Given the description of an element on the screen output the (x, y) to click on. 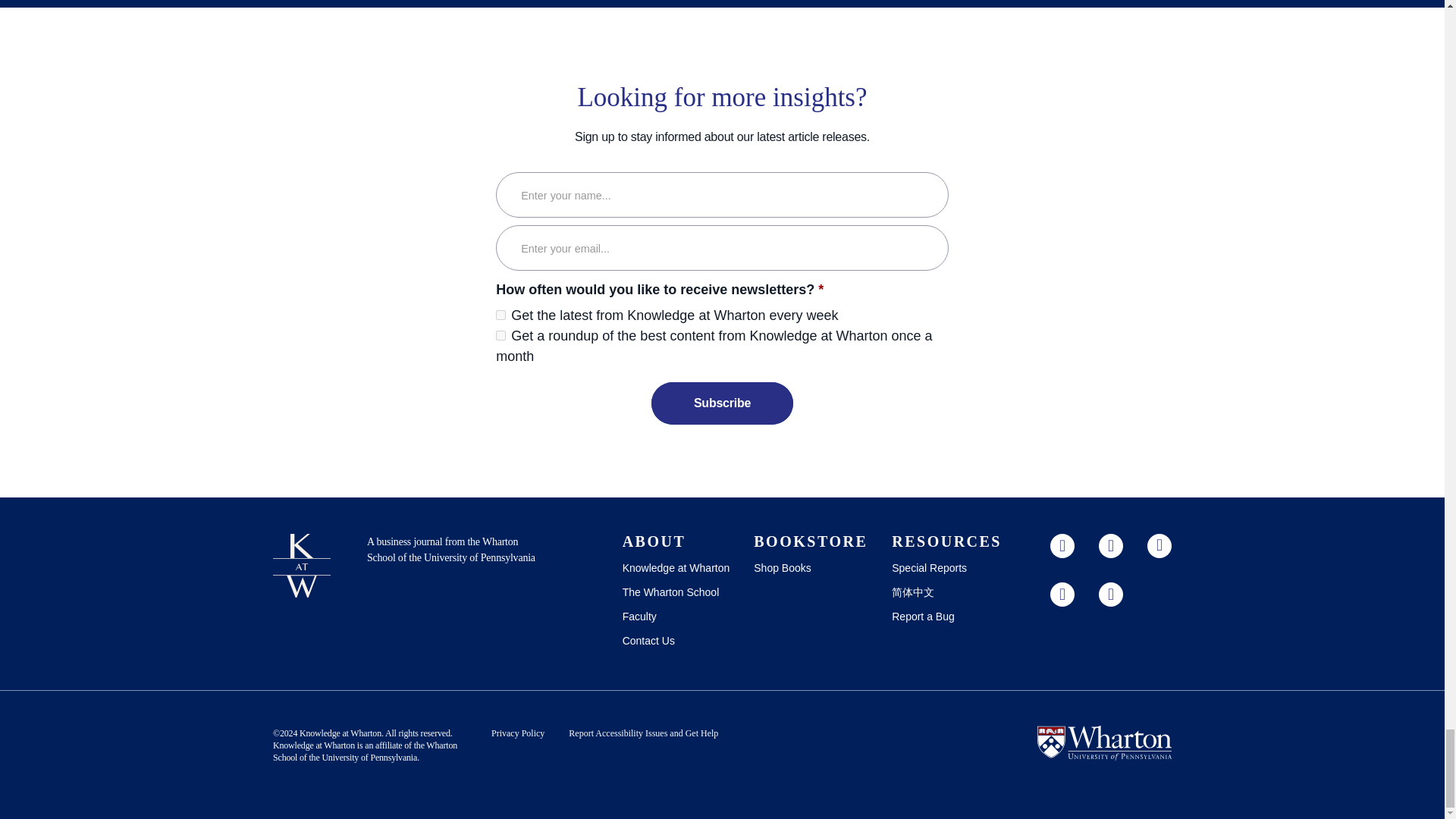
6836382 (500, 315)
Knowledge at Wharton (340, 733)
6825401 (500, 335)
Knowledge at Wharton (314, 745)
